Given the description of an element on the screen output the (x, y) to click on. 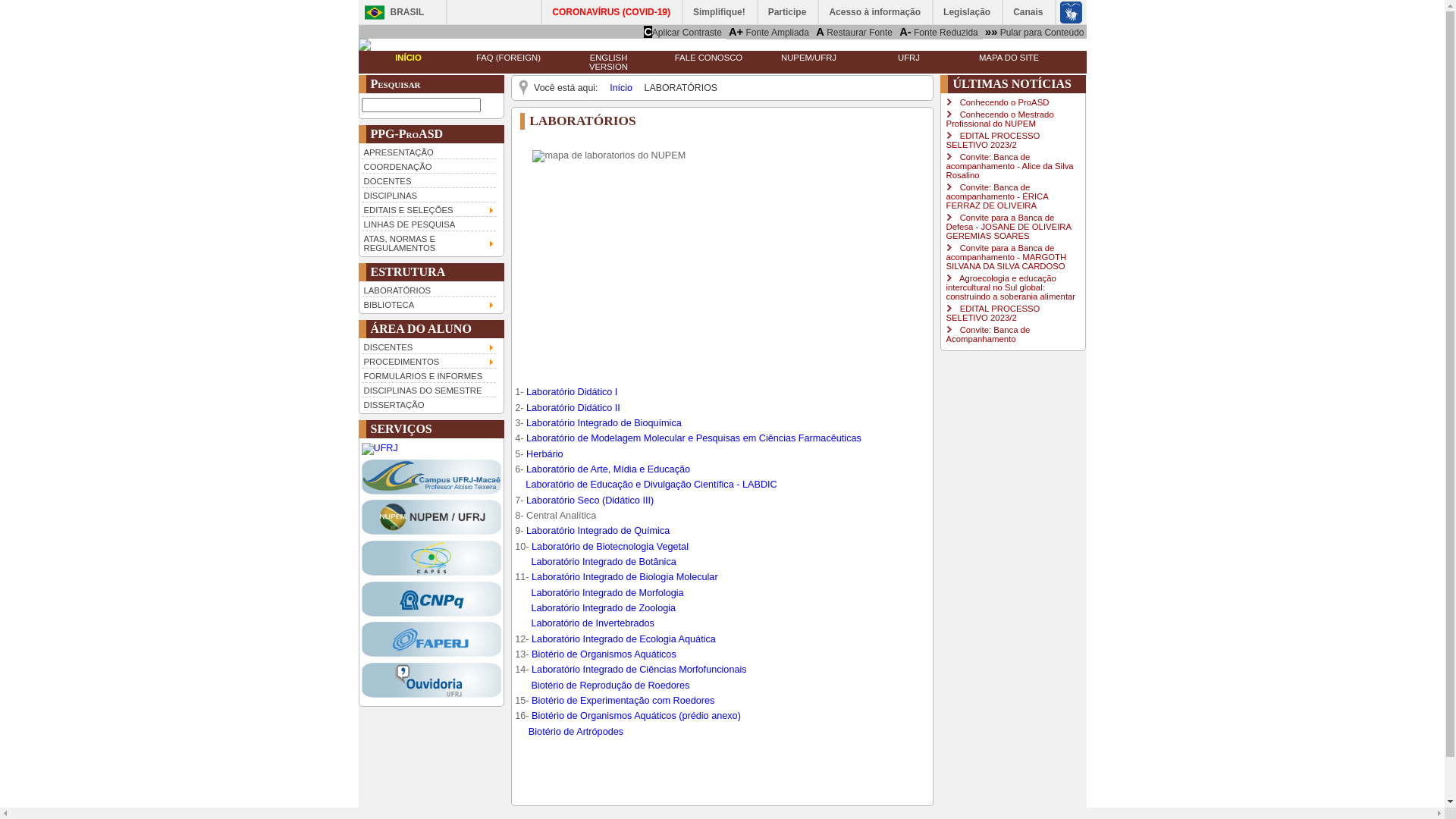
LINHAS DE PESQUISA Element type: text (427, 223)
Canais Element type: text (1028, 11)
ENGLISH VERSION Element type: text (608, 61)
Conhecendo o ProASD Element type: text (1004, 101)
DISCIPLINAS DO SEMESTRE Element type: text (427, 389)
Simplifique! Element type: text (719, 11)
CAplicar Contraste Element type: text (682, 31)
Convite: Banca de Acompanhamento Element type: text (987, 334)
ATAS, NORMAS E REGULAMENTOS Element type: text (427, 242)
Participe Element type: text (788, 11)
DOCENTES Element type: text (427, 179)
Conhecendo o Mestrado Profissional do NUPEM Element type: text (999, 118)
FALE CONOSCO Element type: text (708, 57)
A Restaurar Fonte Element type: text (853, 31)
DISCENTES Element type: text (427, 346)
BRASIL Element type: text (389, 12)
MAPA DO SITE Element type: text (1008, 57)
NUPEM/UFRJ Element type: text (808, 57)
Convite: Banca de acompanhamento - Alice da Silva Rosalino Element type: text (1009, 165)
DISCIPLINAS Element type: text (427, 194)
EDITAL PROCESSO SELETIVO 2023/2 Element type: text (992, 140)
A- Fonte Reduzida Element type: text (938, 31)
UFRJ Element type: text (908, 57)
FAQ (FOREIGN) Element type: text (508, 57)
A+ Fonte Ampliada Element type: text (768, 31)
PROCEDIMENTOS Element type: text (427, 360)
EDITAL PROCESSO SELETIVO 2023/2 Element type: text (992, 313)
BIBLIOTECA Element type: text (427, 303)
